Given the description of an element on the screen output the (x, y) to click on. 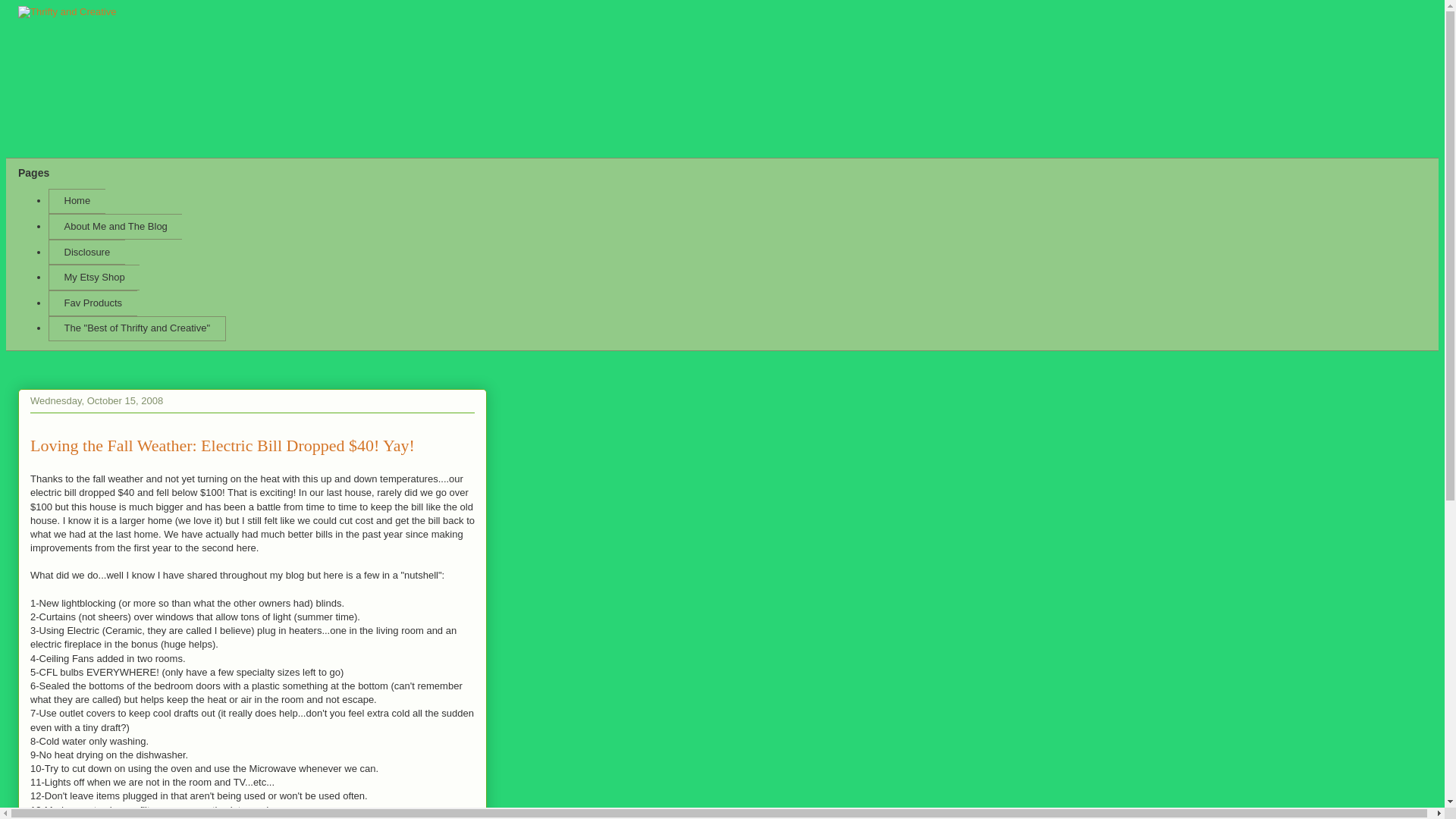
About Me and The Blog (115, 226)
My Etsy Shop (93, 277)
Fav Products (92, 303)
The "Best of Thrifty and Creative" (136, 329)
Home (76, 201)
Disclosure (86, 252)
